Given the description of an element on the screen output the (x, y) to click on. 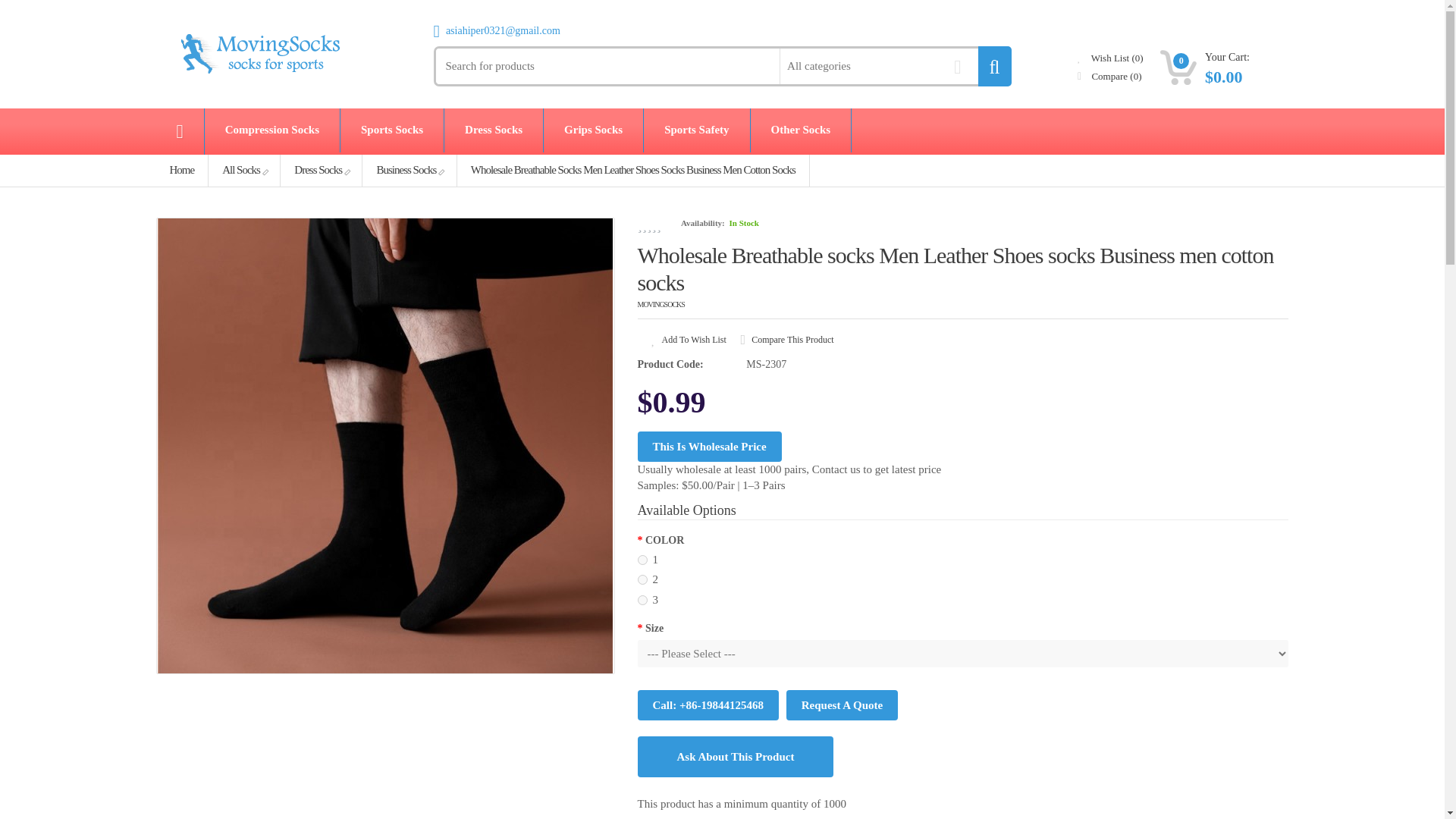
MovingSocks (257, 52)
7199 (641, 600)
7198 (641, 579)
7197 (641, 560)
Sports Socks (392, 129)
Compression Socks (272, 129)
Dress Socks (493, 129)
